Given the description of an element on the screen output the (x, y) to click on. 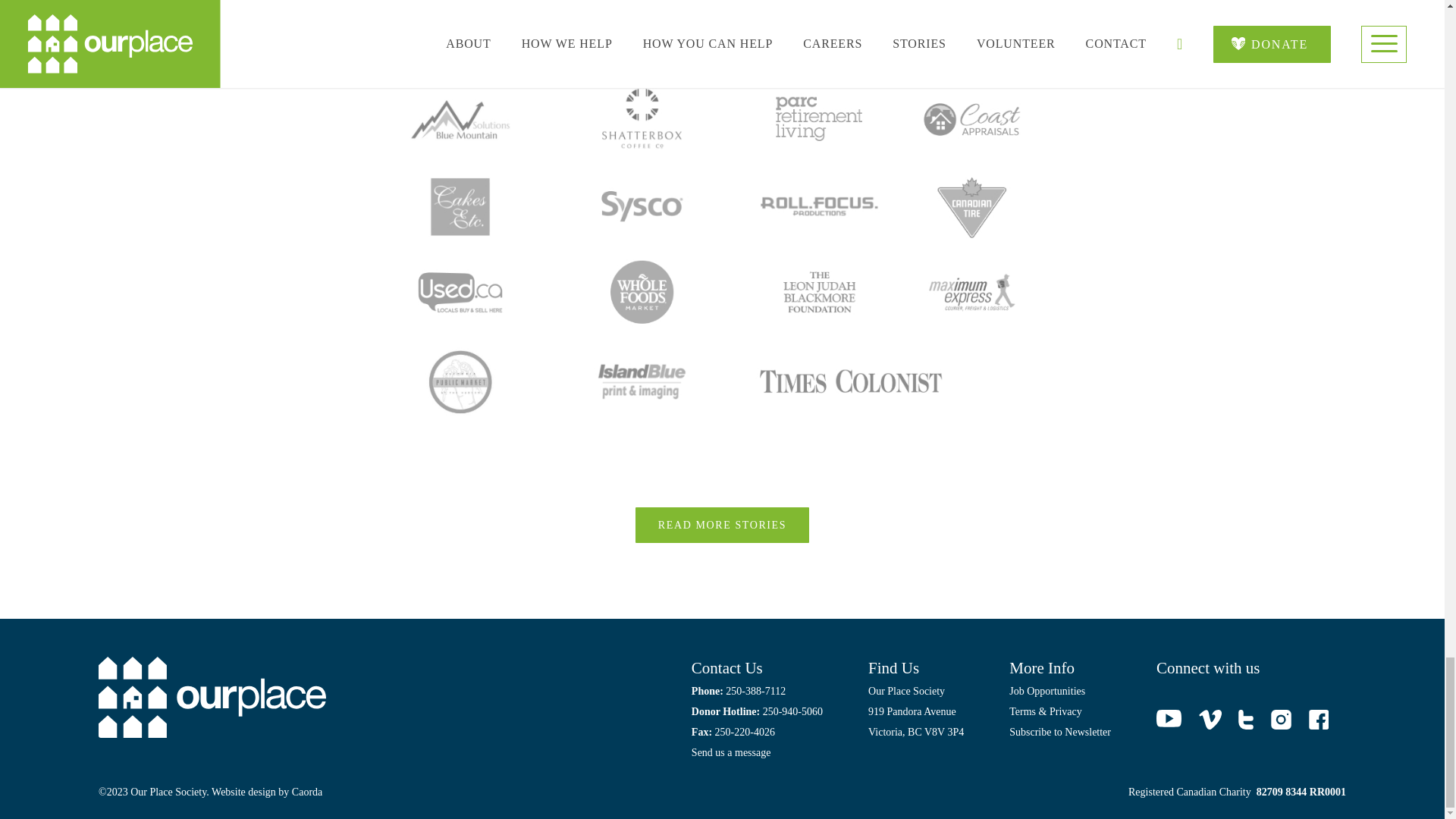
logo-white (212, 696)
